Given the description of an element on the screen output the (x, y) to click on. 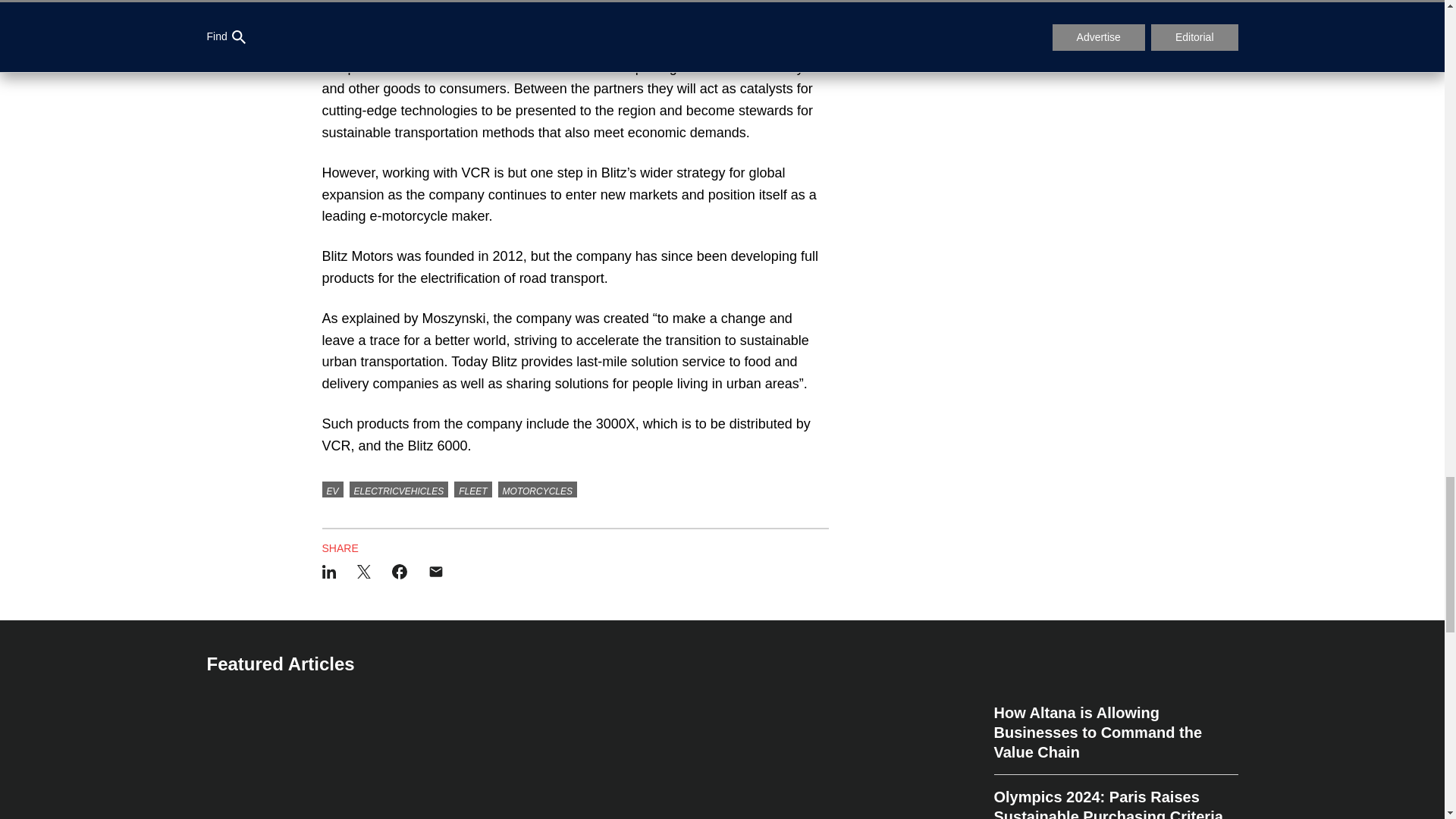
How Altana is Allowing Businesses to Command the Value Chain (1114, 738)
MOTORCYCLES (536, 489)
FLEET (473, 489)
ELECTRICVEHICLES (398, 489)
EV (331, 489)
Olympics 2024: Paris Raises Sustainable Purchasing Criteria (1114, 796)
